Given the description of an element on the screen output the (x, y) to click on. 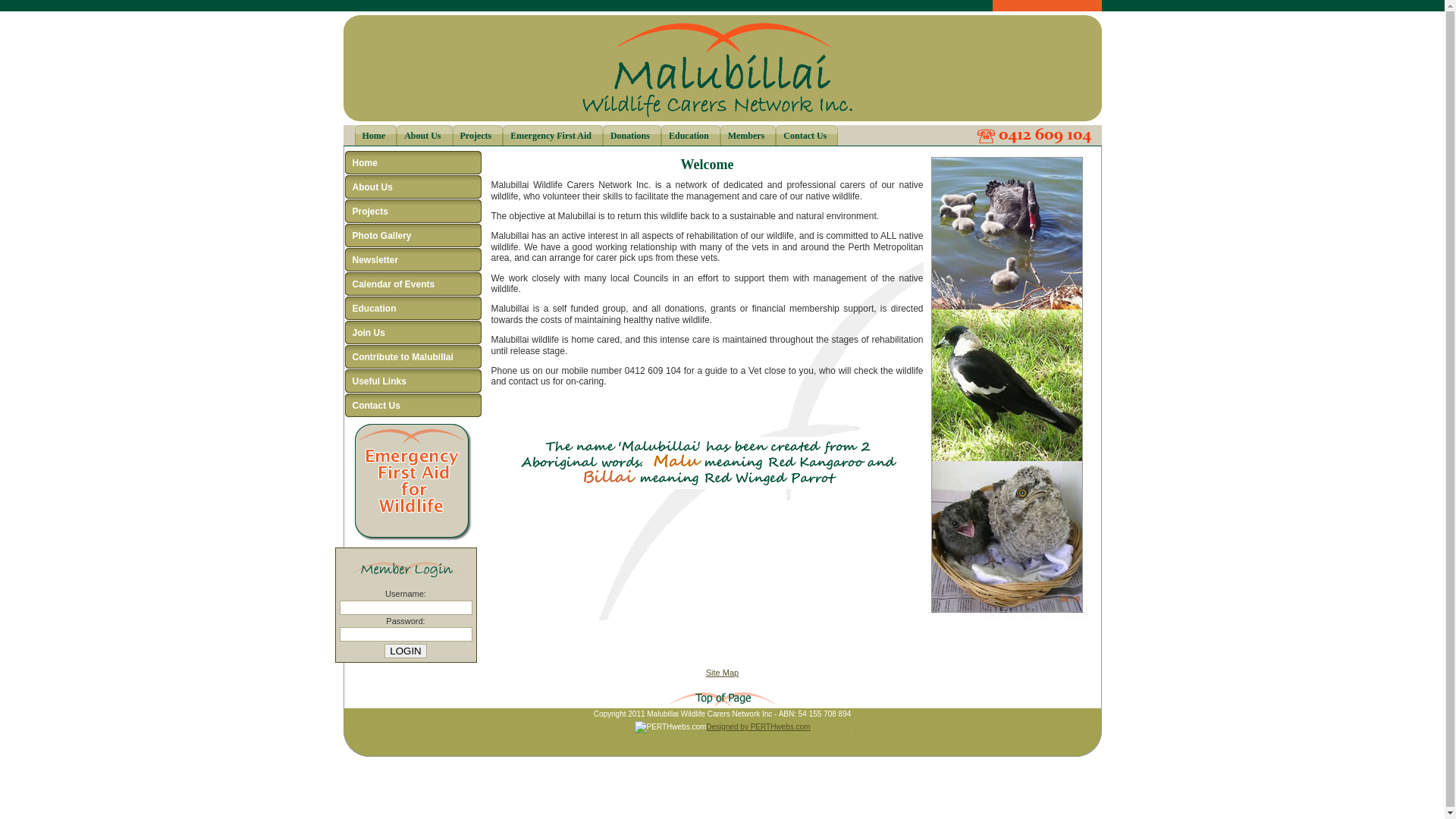
Contact Us Element type: text (412, 405)
Contact Us Element type: text (806, 135)
Education Element type: text (412, 308)
Donations Element type: text (631, 135)
Useful Links Element type: text (412, 381)
Site Map Element type: text (722, 672)
Projects Element type: text (477, 135)
About Us Element type: text (423, 135)
Login Element type: text (405, 650)
Home Element type: text (412, 162)
Calendar of Events Element type: text (412, 284)
Education Element type: text (690, 135)
Join Us Element type: text (412, 332)
About Us Element type: text (412, 187)
Projects Element type: text (412, 211)
Contribute to Malubillai Element type: text (412, 357)
Photo Gallery Element type: text (412, 235)
Home Element type: text (375, 135)
Emergency First Aid Element type: text (552, 135)
Newsletter Element type: text (412, 259)
Designed by PERTHwebs.com Element type: text (757, 725)
Members Element type: text (748, 135)
